Given the description of an element on the screen output the (x, y) to click on. 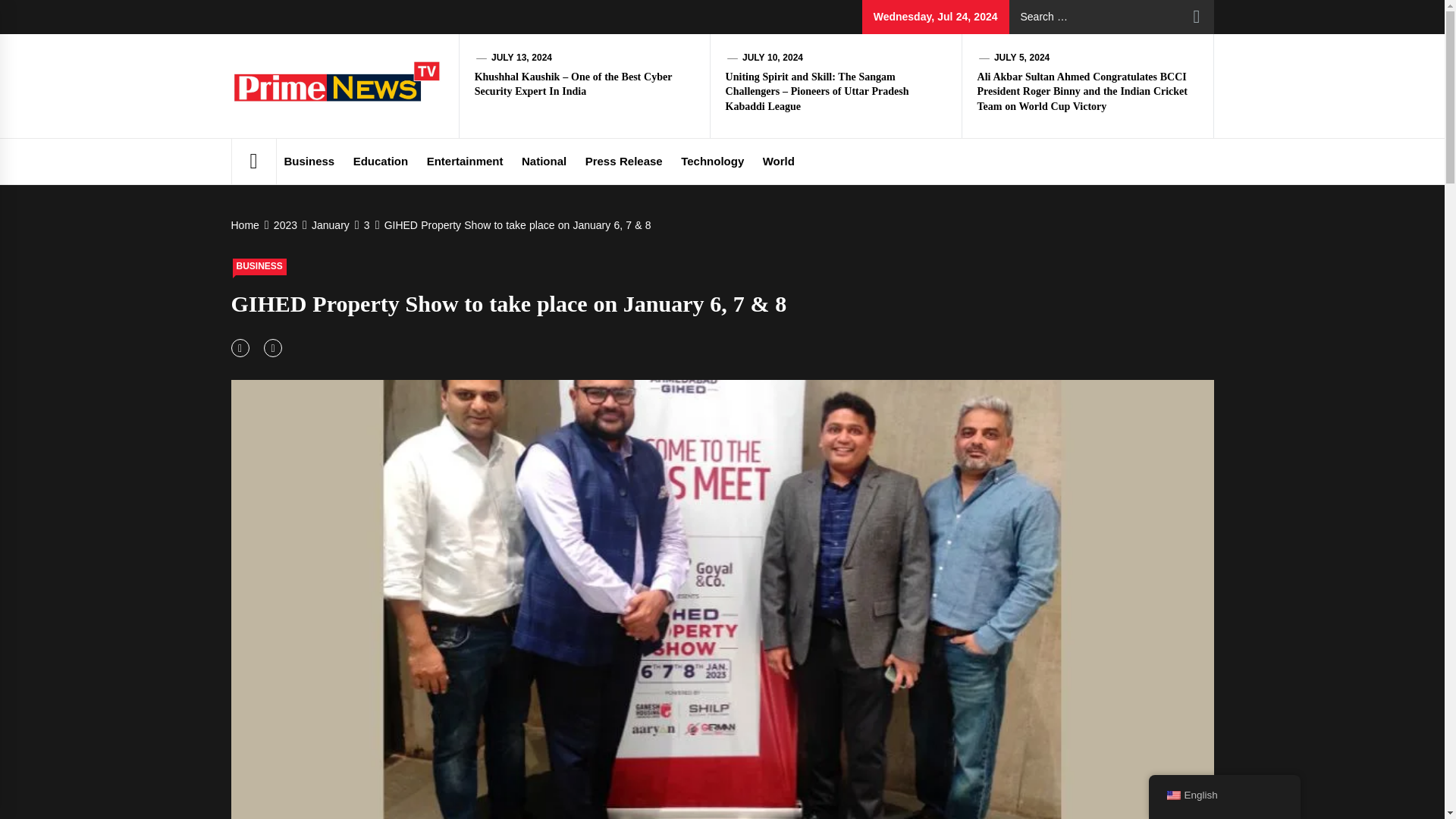
English (1172, 795)
Prime News Tv (486, 105)
2023 (283, 224)
National (543, 161)
January (328, 224)
JULY 5, 2024 (1021, 57)
Technology (711, 161)
BUSINESS (258, 266)
Search (1196, 17)
3 (365, 224)
Search (1196, 17)
Entertainment (465, 161)
Press Release (623, 161)
JULY 13, 2024 (521, 57)
